Given the description of an element on the screen output the (x, y) to click on. 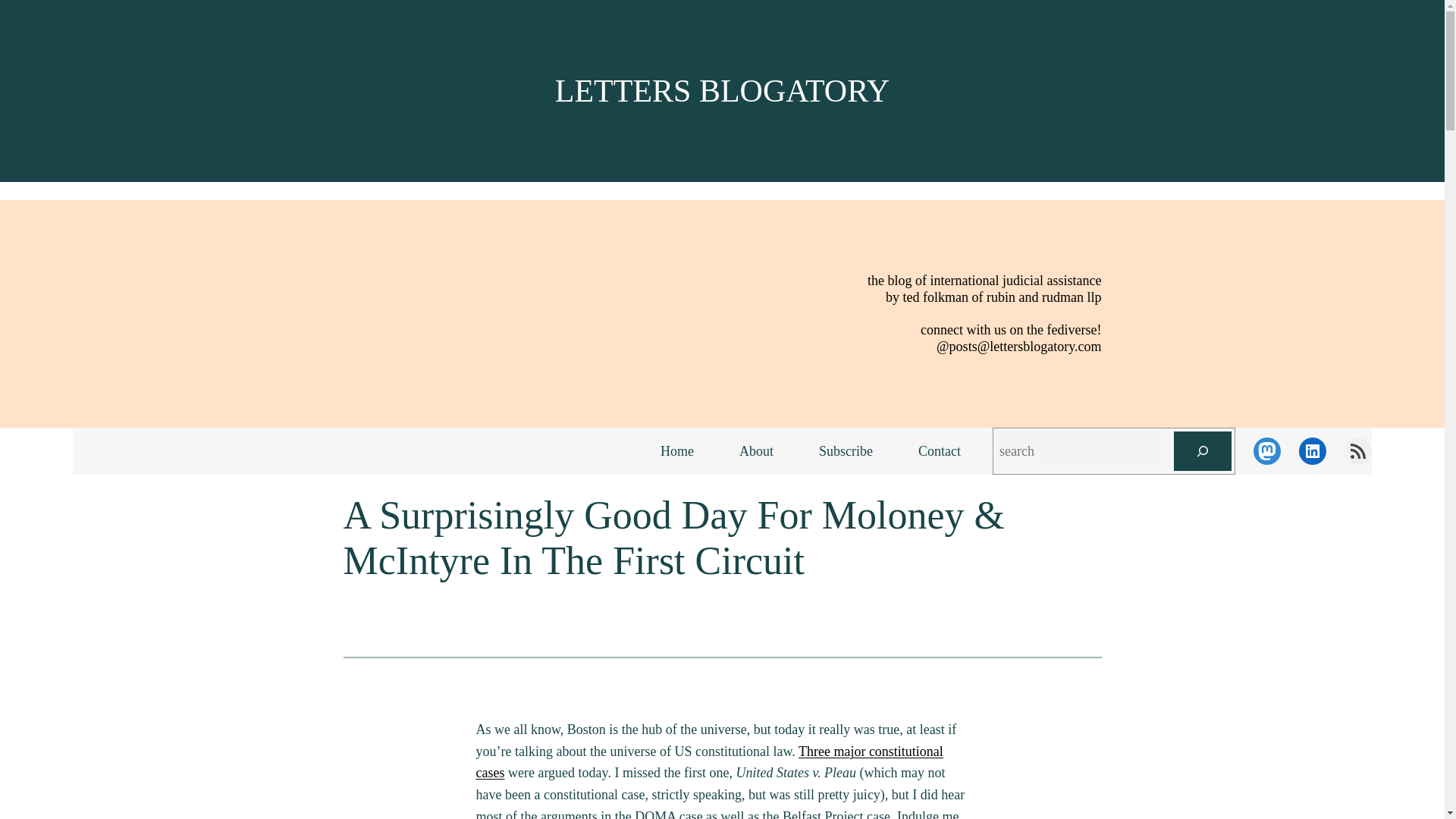
Home (676, 451)
Three major constitutional cases (709, 762)
Opt-out preferences (1203, 792)
Mastodon (1267, 451)
Contact (939, 451)
About (756, 451)
Subscribe (845, 451)
Privacy Statement (1280, 792)
Accept (1241, 760)
Letters Blogatory RSS feed (1357, 451)
LinkedIn (1312, 451)
